Given the description of an element on the screen output the (x, y) to click on. 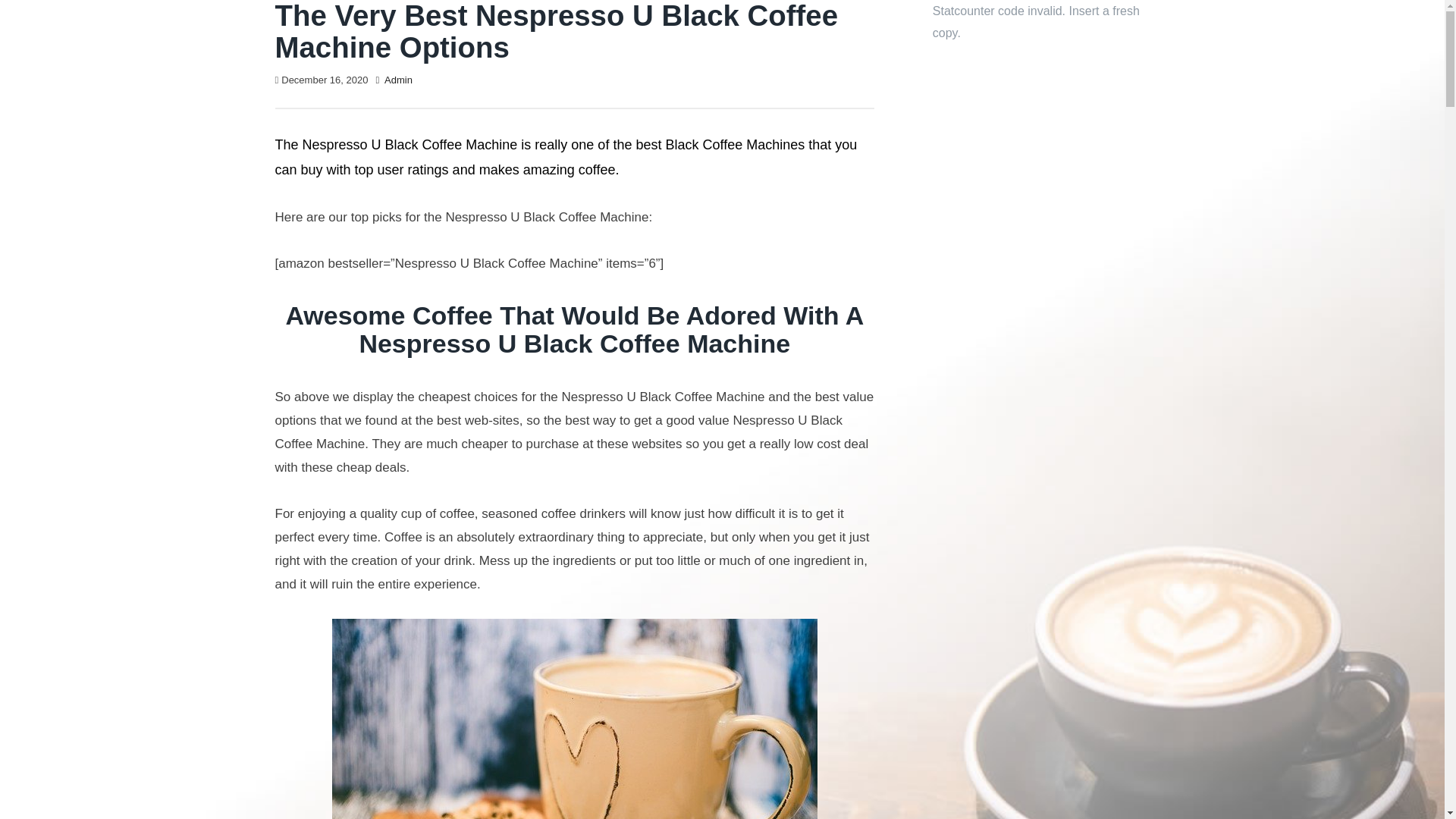
December 16, 2020 (324, 79)
Admin (398, 79)
Types Of Coffee Macchiato (573, 719)
